Given the description of an element on the screen output the (x, y) to click on. 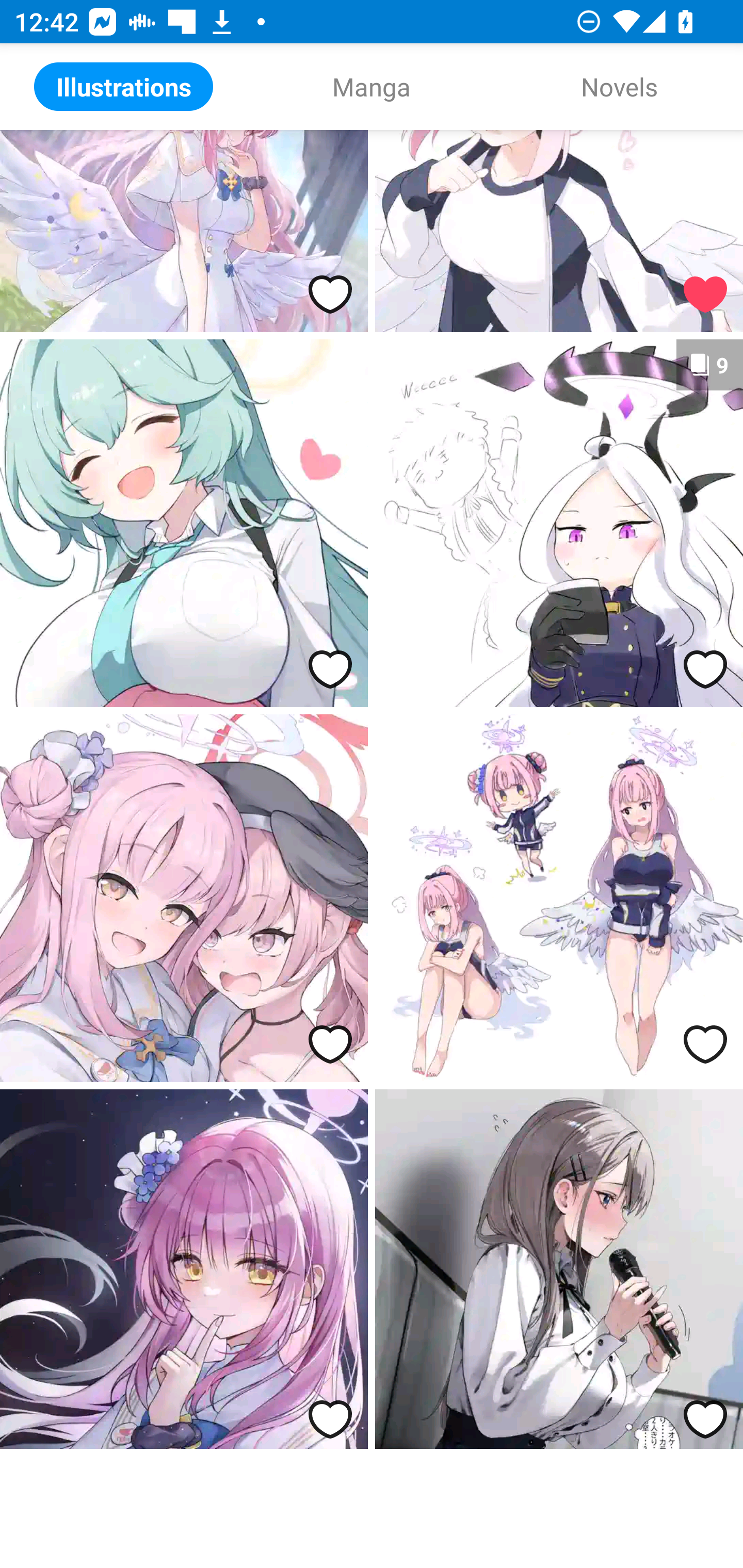
Illustrations (123, 86)
Manga (371, 86)
Novels (619, 86)
9 (559, 522)
